Given the description of an element on the screen output the (x, y) to click on. 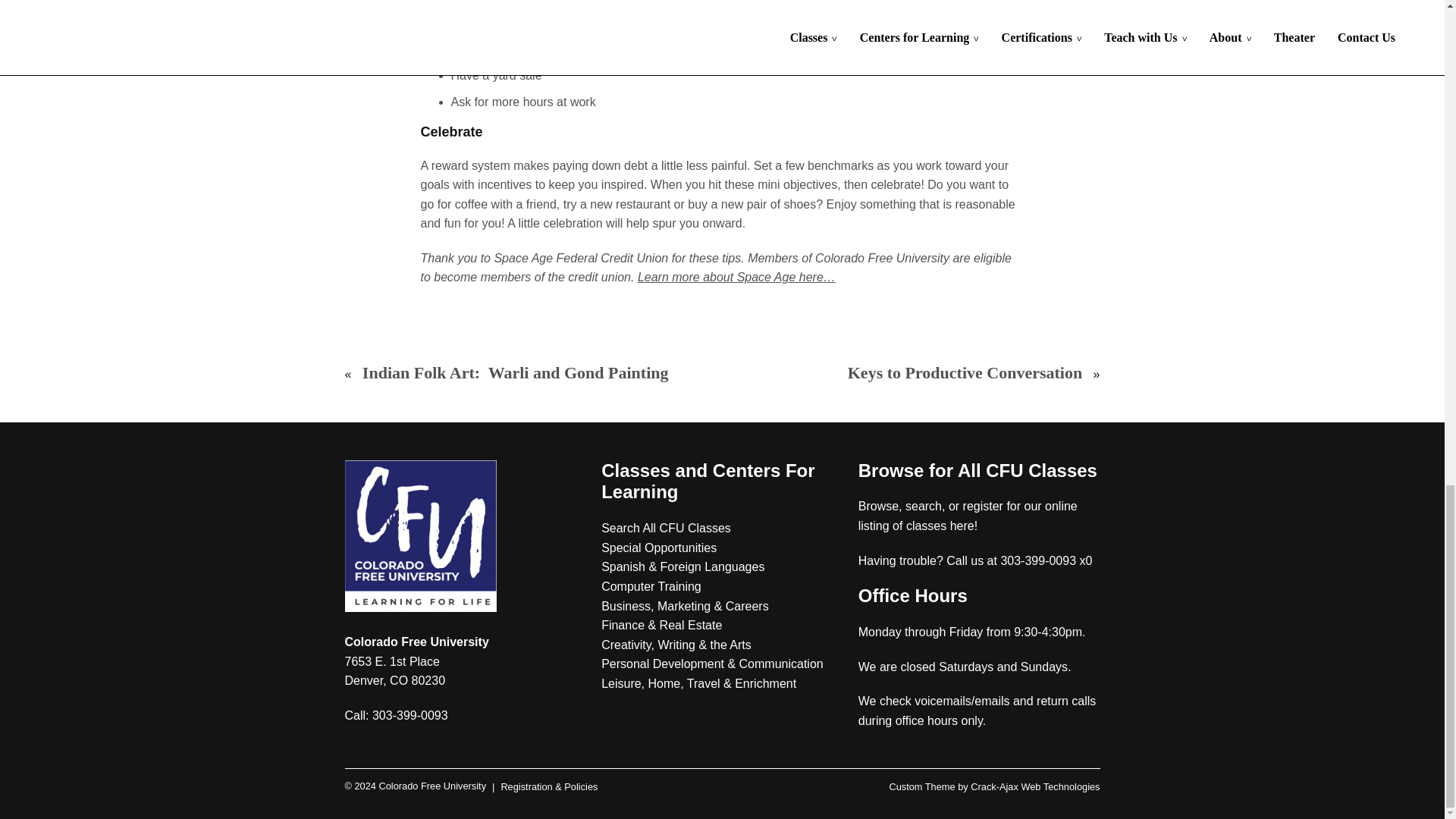
Indian Folk Art:  Warli and Gond Painting (515, 372)
Keys to Productive Conversation (964, 372)
Colorado Free University (414, 786)
Custom Theme by Crack-Ajax Web Technologies (993, 786)
